Given the description of an element on the screen output the (x, y) to click on. 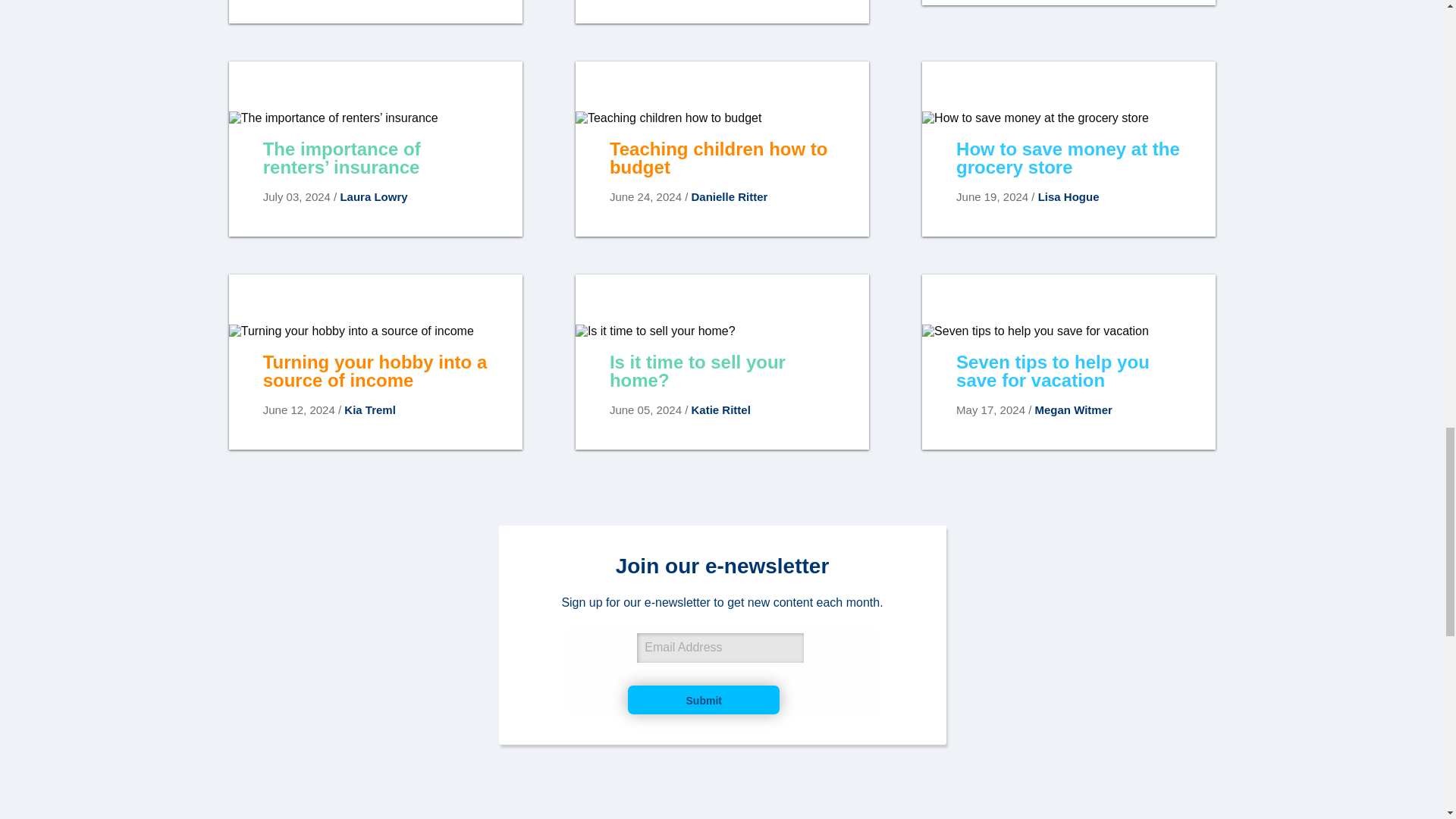
Teaching children to save money (375, 12)
Turning your hobby into a source of income (375, 386)
How to save money at the grocery store (1068, 173)
Is it time to sell your home? (722, 386)
Teaching children how to budget (722, 173)
What to consider when weighing a job offer (722, 12)
Submit (702, 699)
Preparing for a recession (1068, 2)
